Given the description of an element on the screen output the (x, y) to click on. 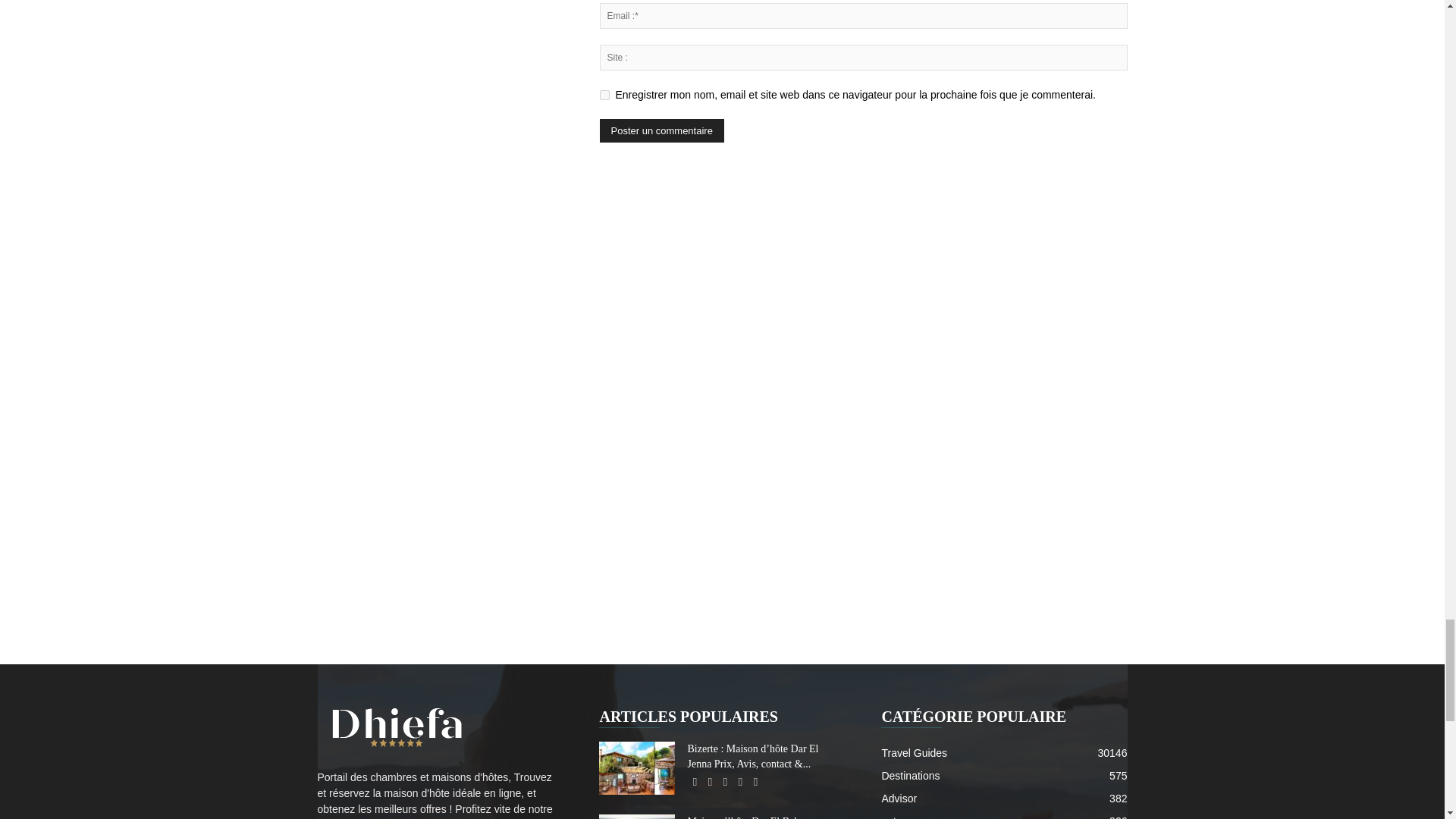
Poster un commentaire (660, 130)
yes (603, 94)
